Given the description of an element on the screen output the (x, y) to click on. 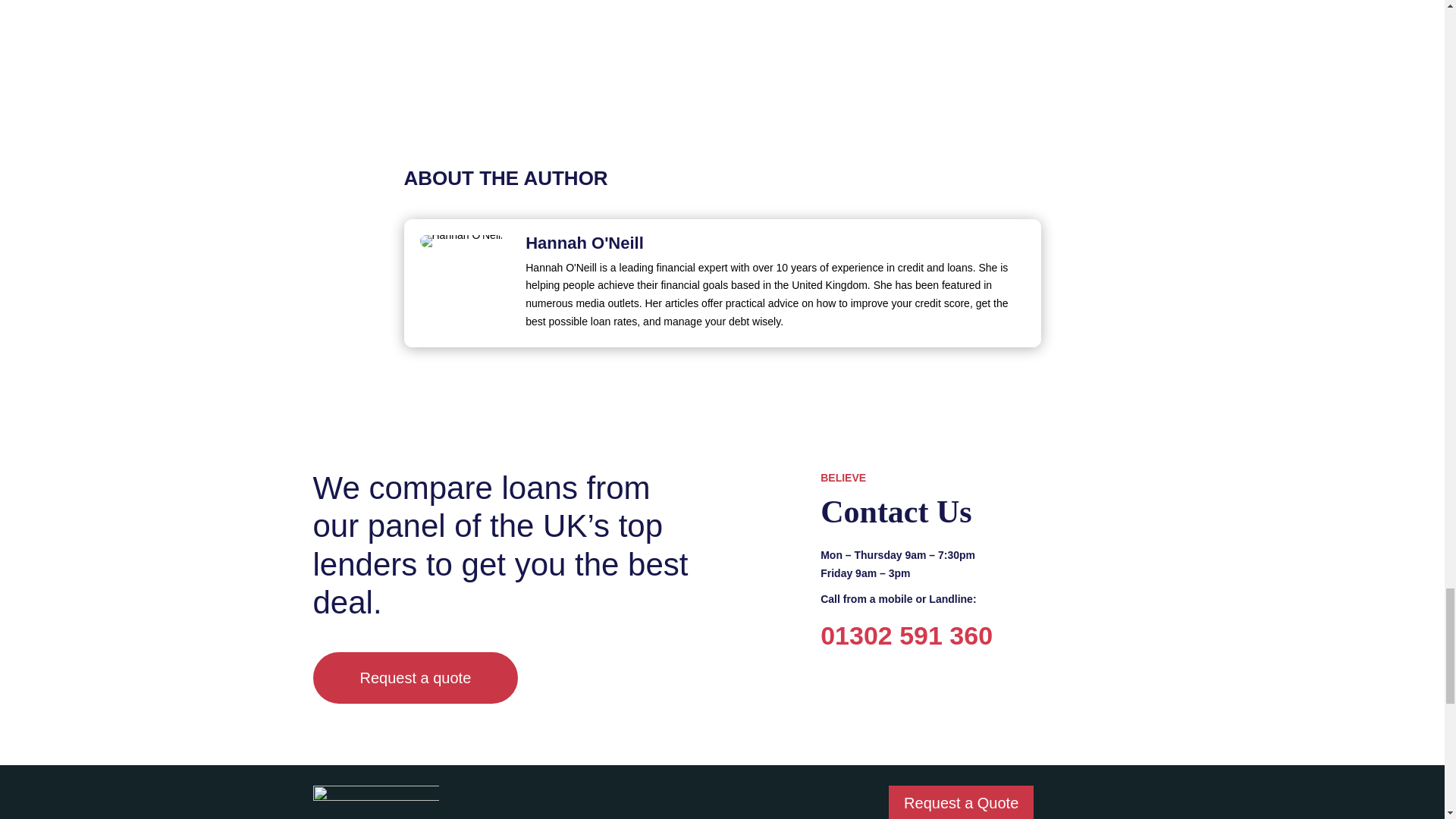
Request a quote (415, 677)
bmg (375, 802)
